Given the description of an element on the screen output the (x, y) to click on. 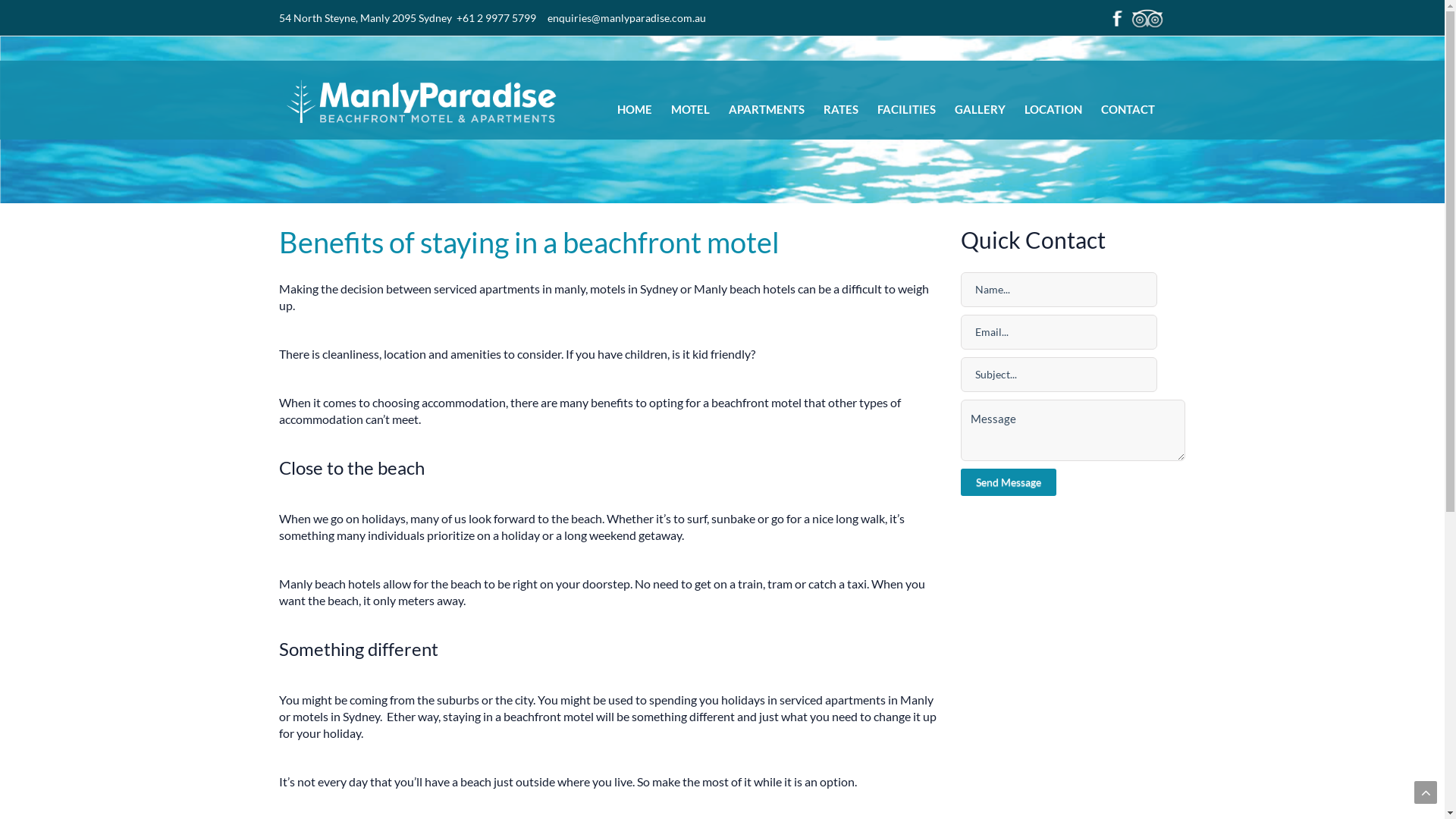
Benefits of staying in a beachfront motel Element type: text (529, 241)
RATES Element type: text (840, 109)
Send Message Element type: text (1008, 481)
APARTMENTS Element type: text (765, 109)
enquiries@manlyparadise.com.au Element type: text (626, 17)
GALLERY Element type: text (979, 109)
+61 2 9977 5799 Element type: text (496, 17)
LOCATION Element type: text (1052, 109)
FACILITIES Element type: text (905, 109)
Goto Top Element type: hover (1425, 792)
CONTACT Element type: text (1127, 109)
HOME Element type: text (634, 109)
MOTEL Element type: text (689, 109)
